Given the description of an element on the screen output the (x, y) to click on. 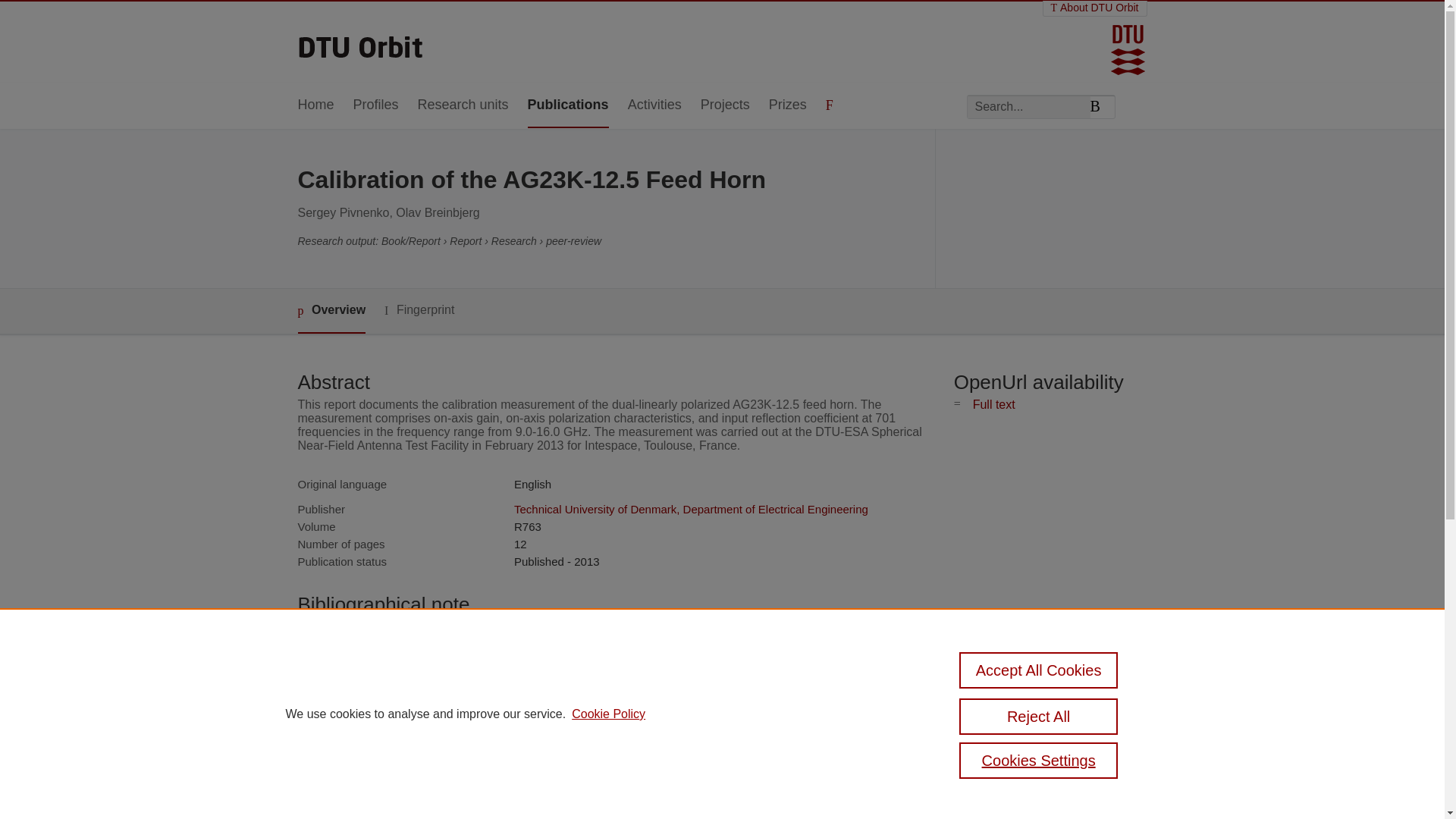
Research units (462, 105)
Fingerprint (419, 310)
Welcome to DTU Research Database Home (361, 41)
Overview (331, 311)
Profiles (375, 105)
Full text (993, 404)
Publications (567, 105)
About DTU Orbit (1095, 7)
Activities (654, 105)
